Given the description of an element on the screen output the (x, y) to click on. 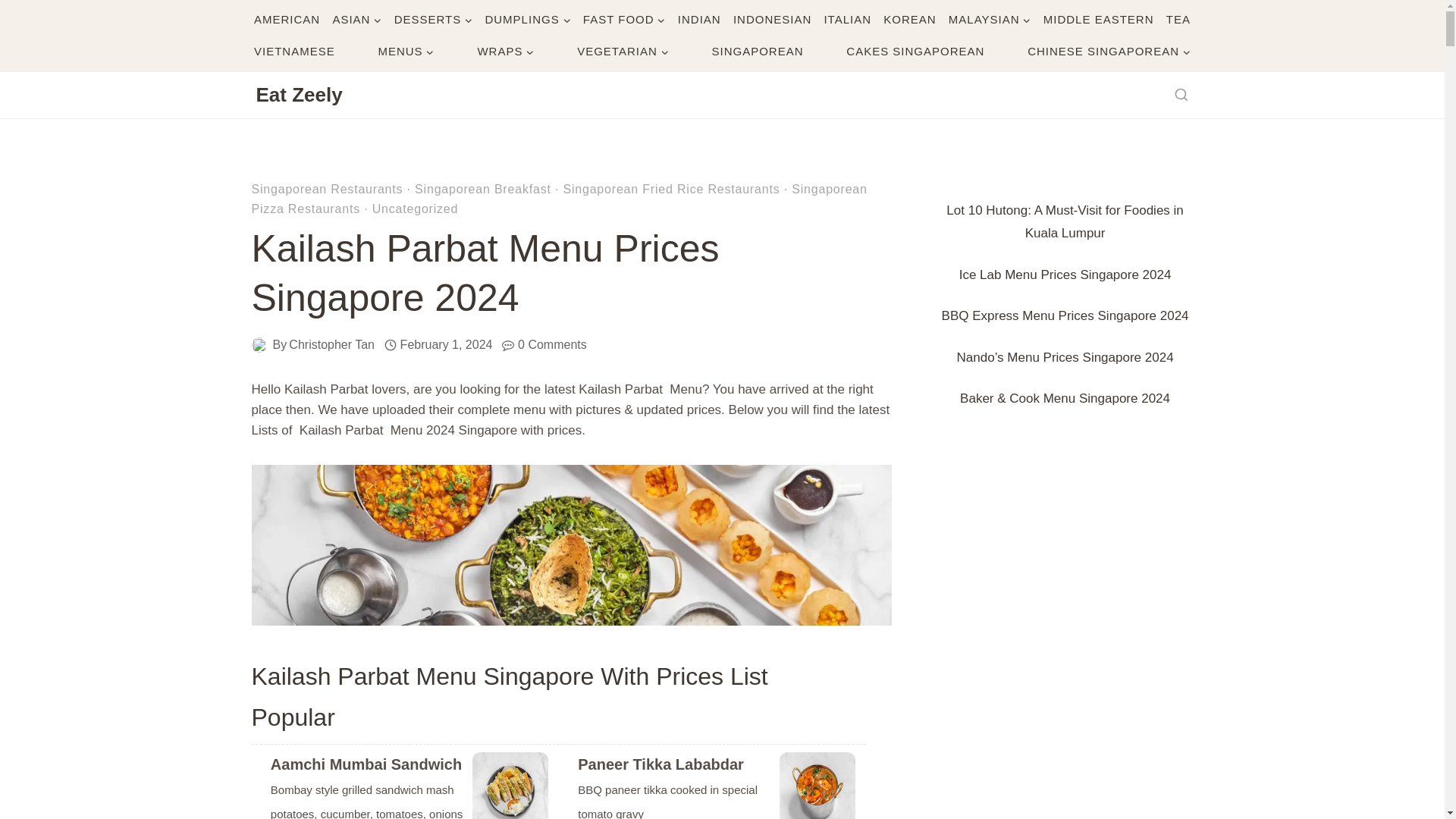
MALAYSIAN (989, 20)
0 Comments (552, 344)
KOREAN (909, 20)
DUMPLINGS (527, 20)
INDIAN (698, 20)
MIDDLE EASTERN (1097, 20)
INDONESIAN (771, 20)
ITALIAN (847, 20)
TEA (1177, 20)
ASIAN (356, 20)
AMERICAN (287, 20)
FAST FOOD (623, 20)
